Given the description of an element on the screen output the (x, y) to click on. 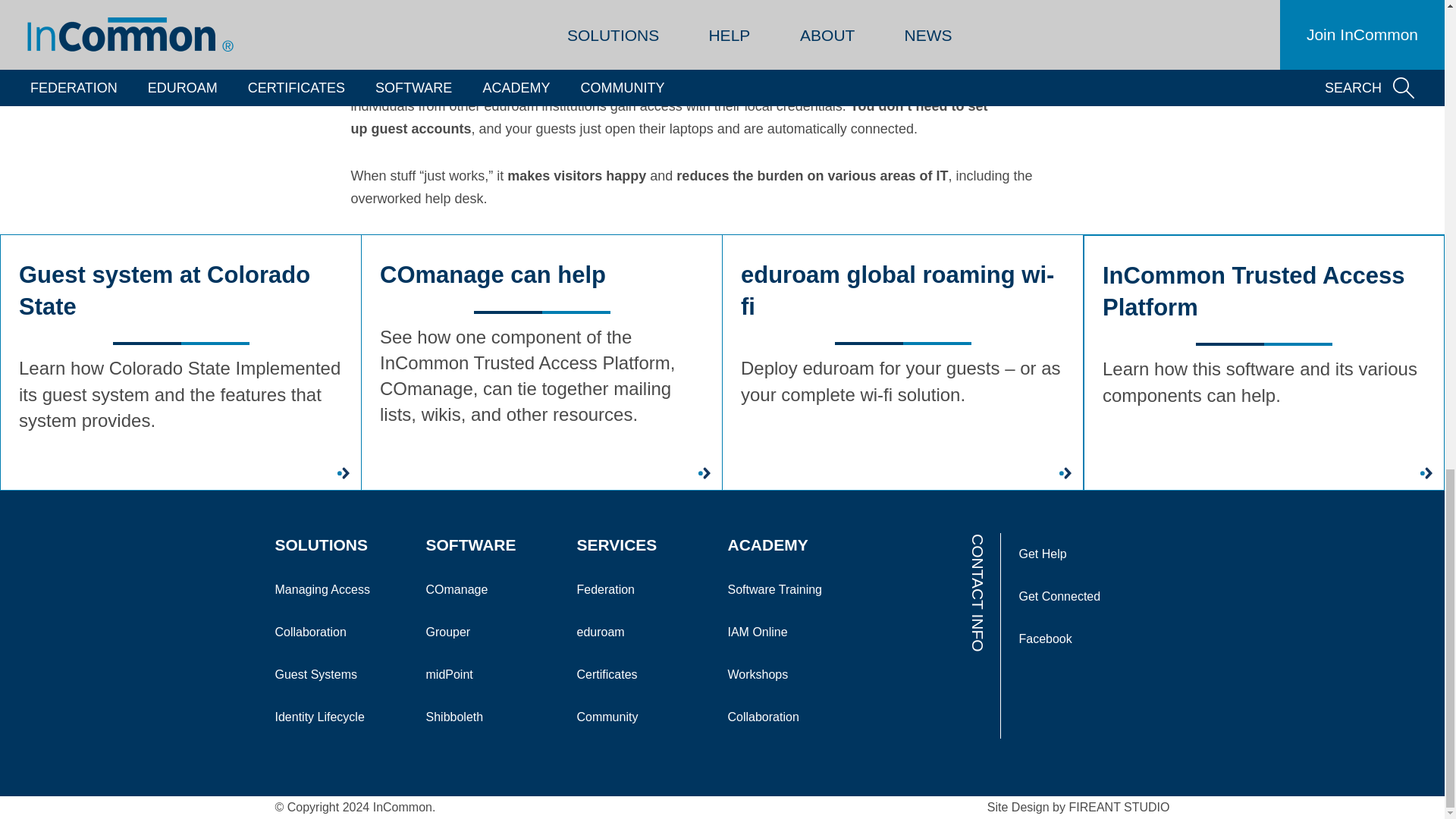
Managing Access (342, 589)
Collaboration (342, 631)
eduroam, a global roaming wi-fi service (647, 71)
